Given the description of an element on the screen output the (x, y) to click on. 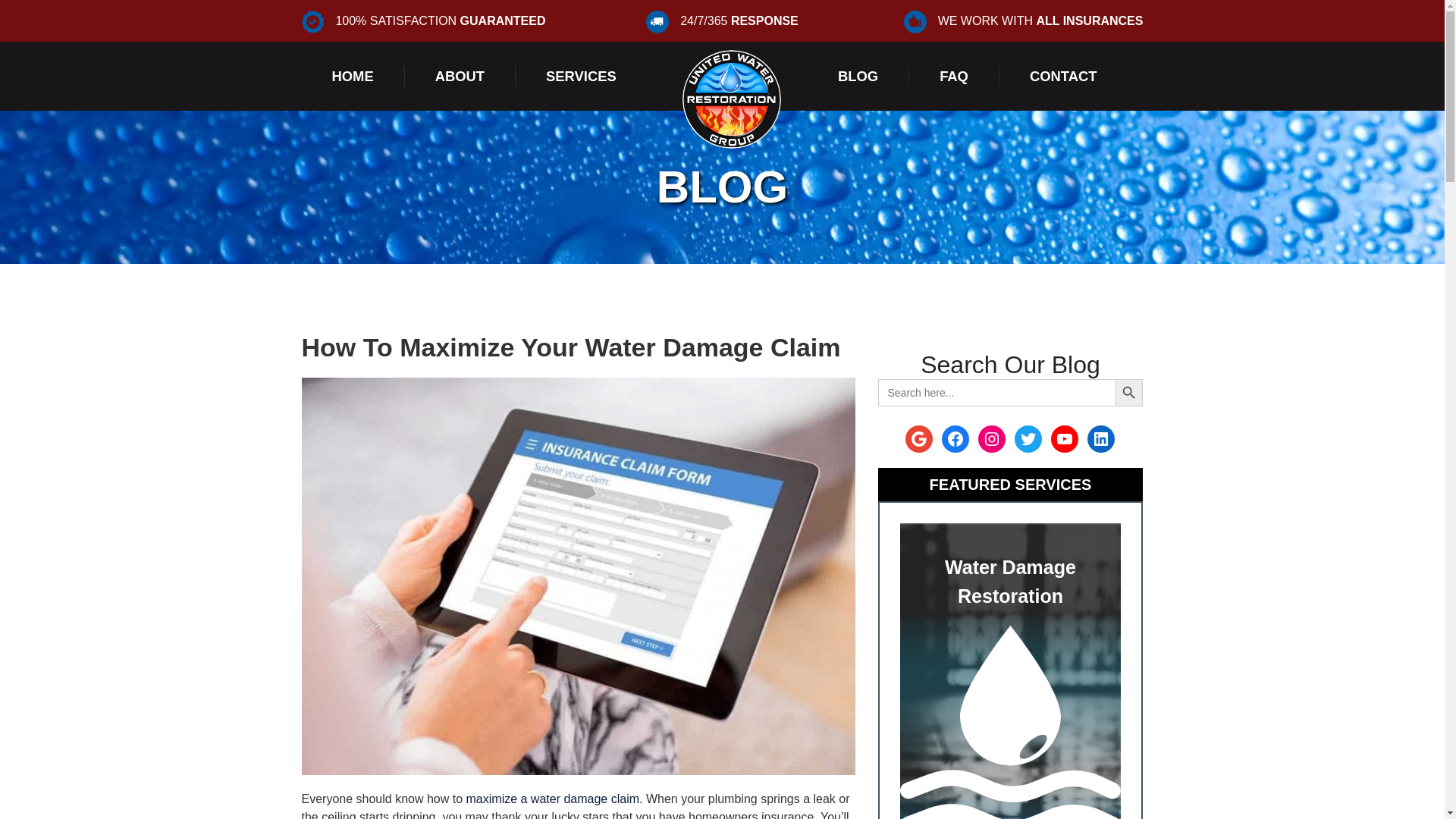
YouTube (1064, 438)
ABOUT (459, 75)
Google (919, 438)
Home (352, 75)
Services (580, 75)
Facebook (955, 438)
maximize a water damage claim (552, 798)
SERVICES (580, 75)
Blog (858, 75)
About (459, 75)
LinkedIn (1101, 438)
Faq (953, 75)
FAQ (953, 75)
BLOG (858, 75)
CONTACT (1062, 75)
